Given the description of an element on the screen output the (x, y) to click on. 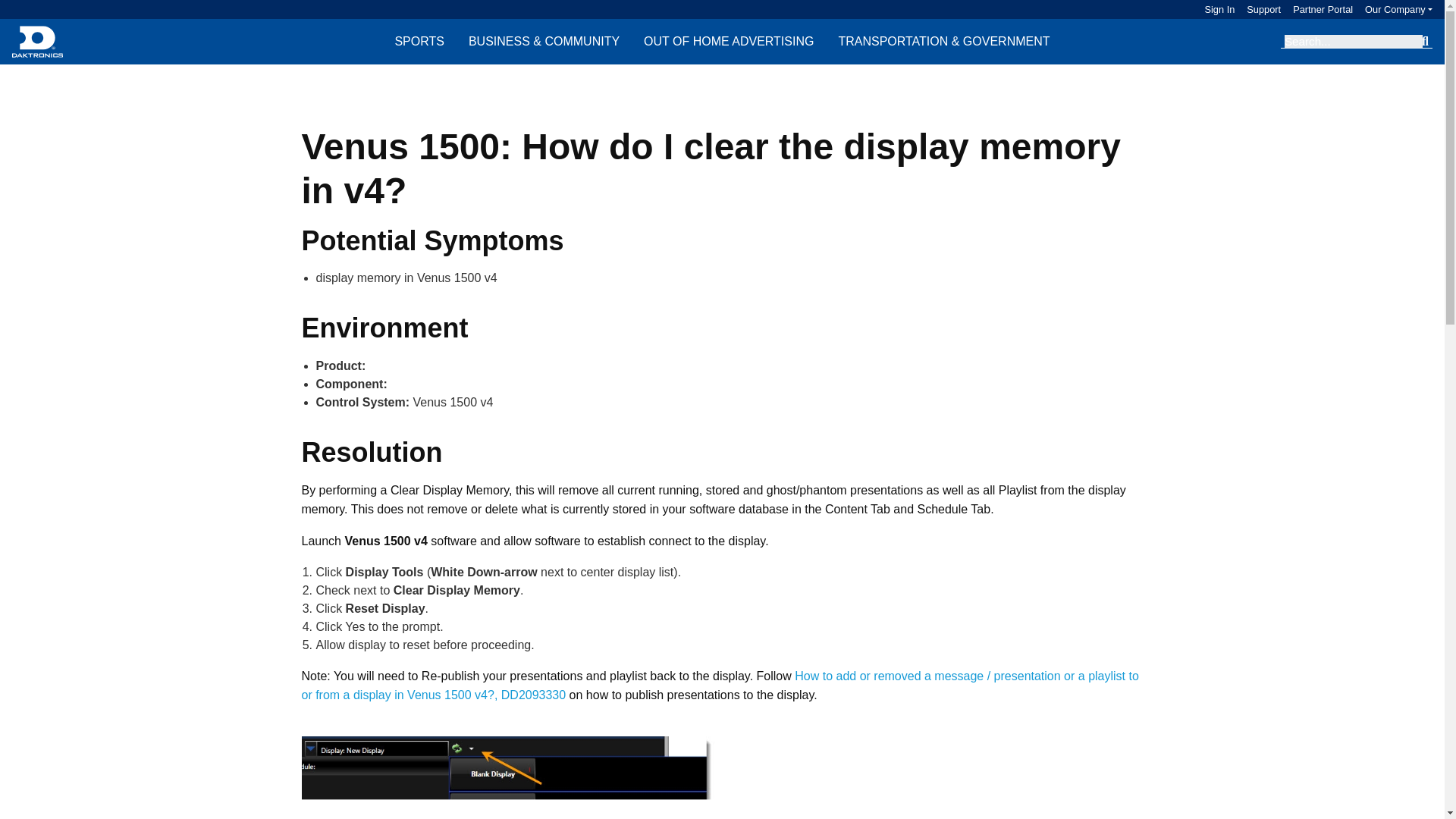
Sign In (1219, 9)
Partner Portal (1316, 9)
SPORTS (419, 41)
Support (1257, 9)
Our Company (1398, 9)
Daktronics (36, 41)
